Given the description of an element on the screen output the (x, y) to click on. 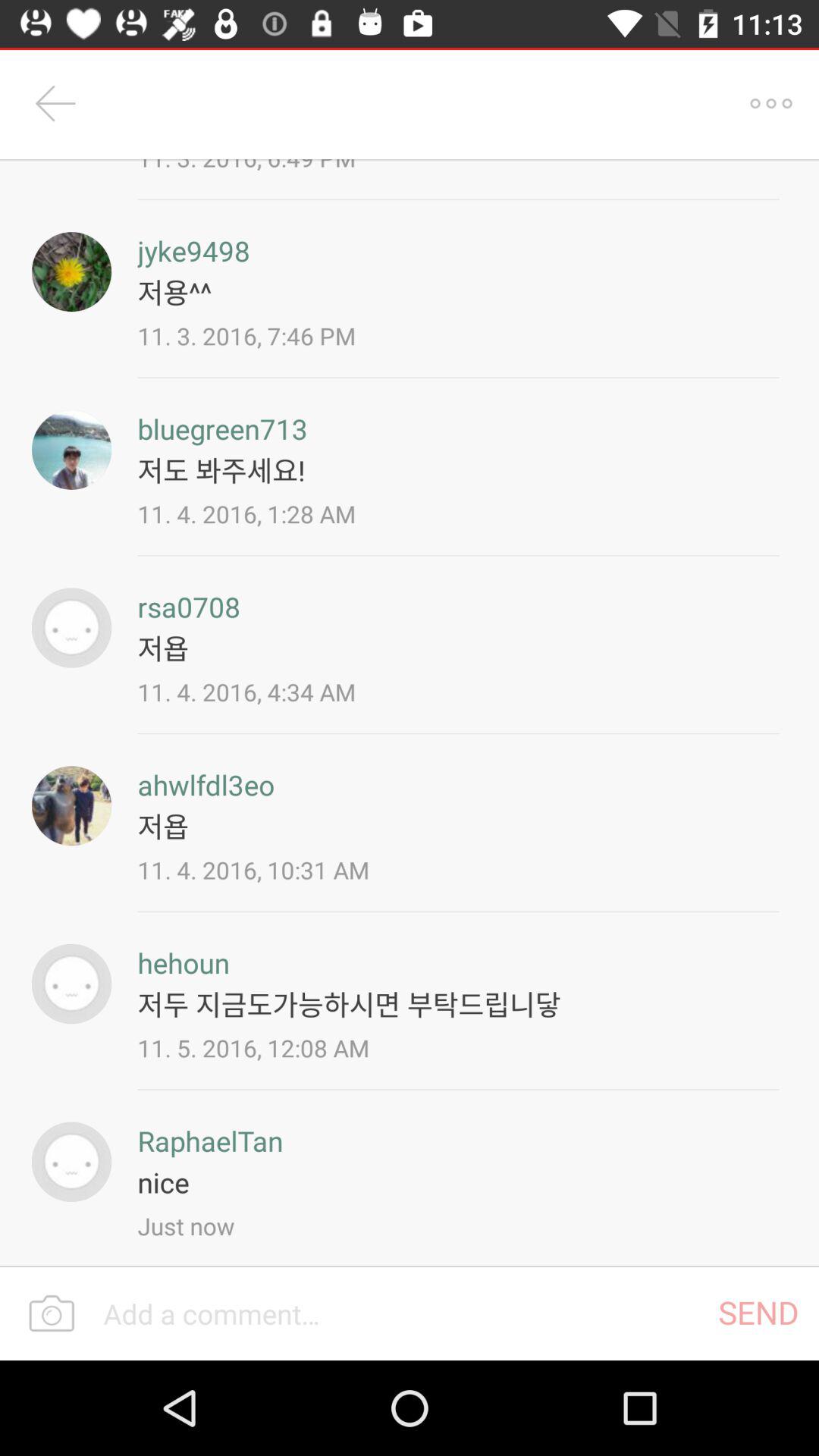
press the jyke9498 item (193, 250)
